Given the description of an element on the screen output the (x, y) to click on. 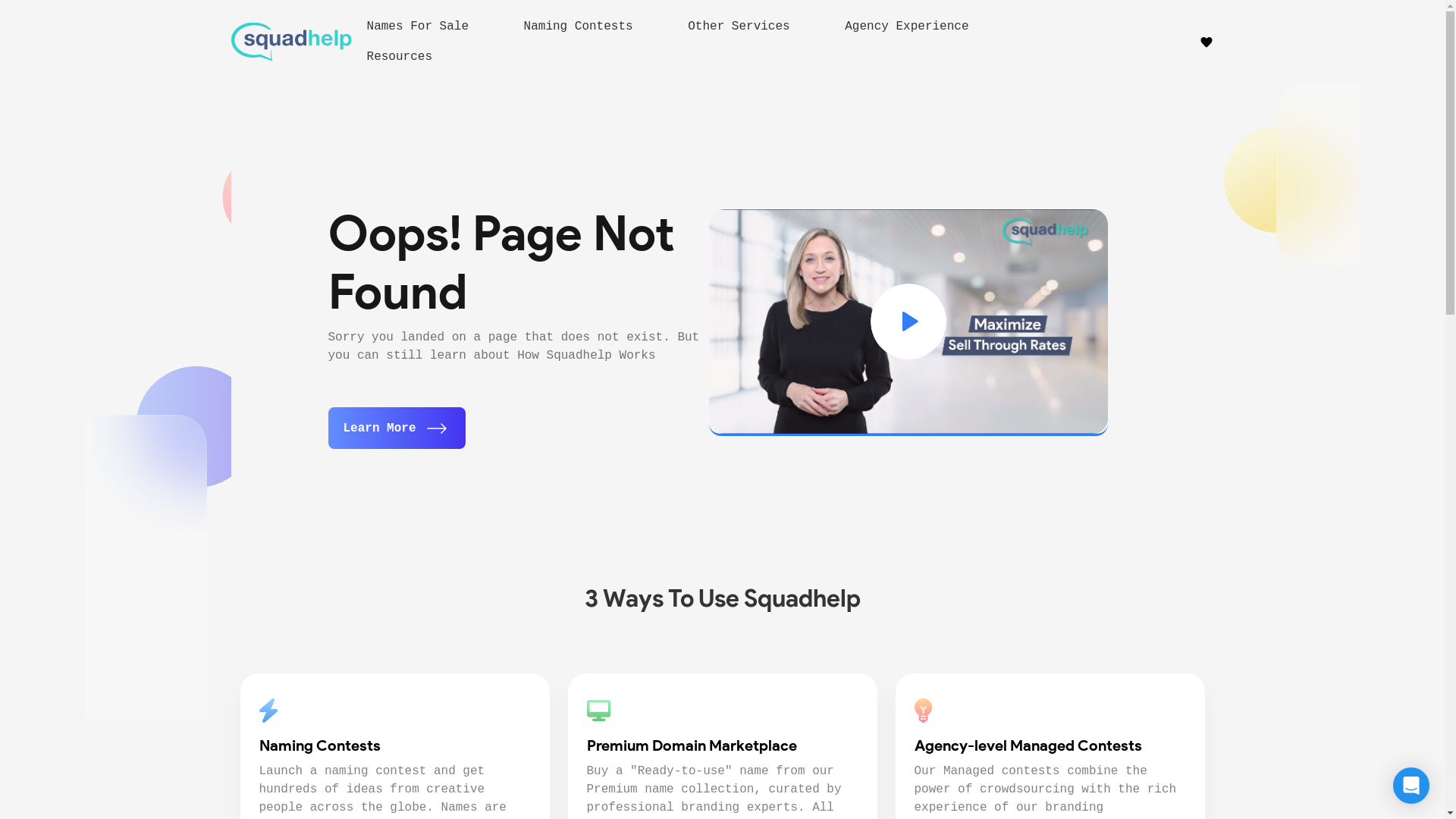
Learn More Element type: text (395, 427)
Naming Contests Element type: text (587, 26)
Resources Element type: text (408, 56)
Names For Sale Element type: text (426, 26)
Agency Experience Element type: text (906, 26)
Other Services Element type: text (746, 26)
